Given the description of an element on the screen output the (x, y) to click on. 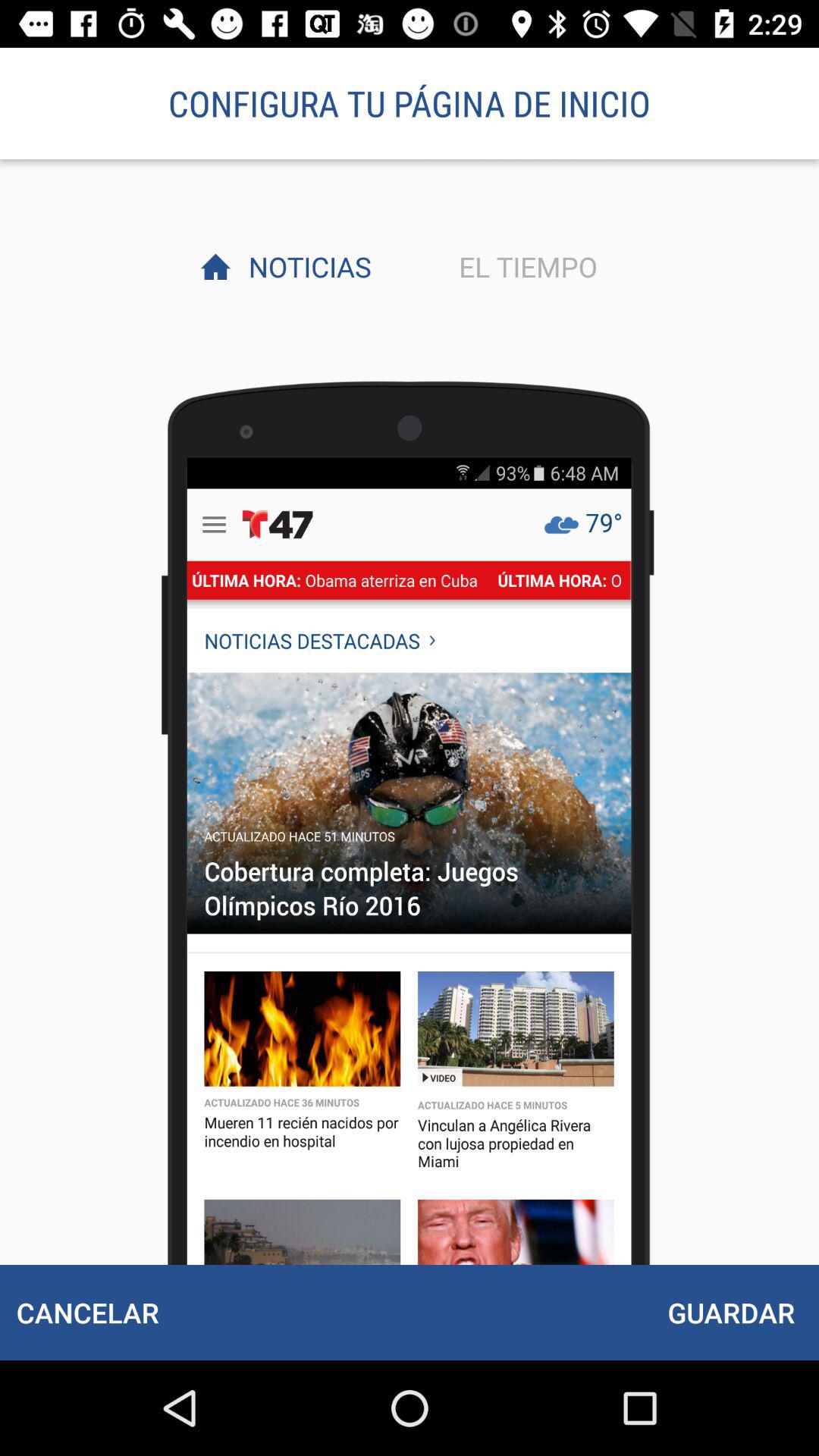
press icon next to the cancelar item (731, 1312)
